Given the description of an element on the screen output the (x, y) to click on. 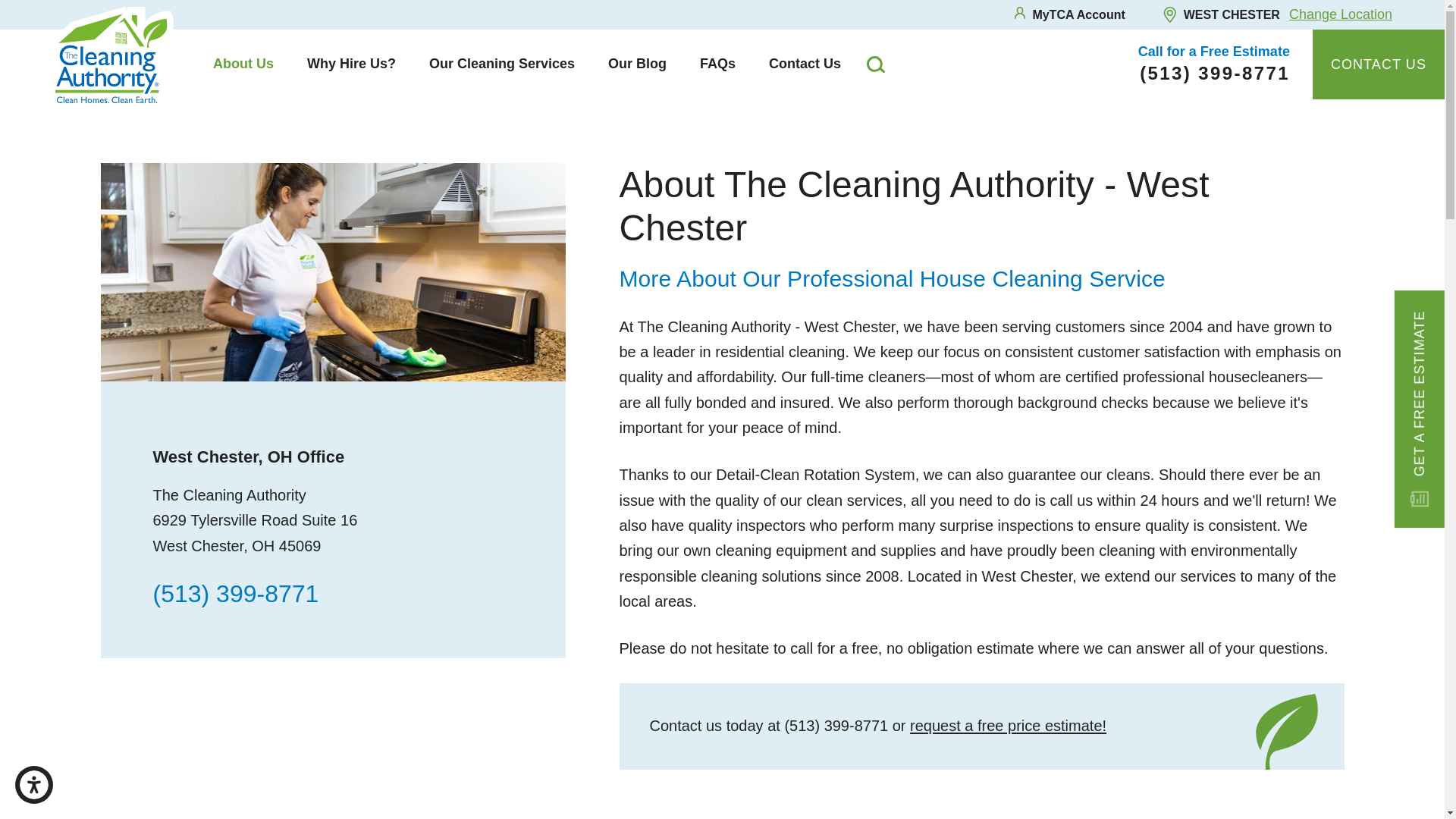
Why Hire Us? (350, 64)
About Us (242, 64)
Contact Us (804, 64)
The Cleaning Authority (112, 54)
MyTCA Account (1068, 14)
Our Blog (636, 64)
Change Location (1339, 14)
Open the accessibility options menu (33, 784)
FAQs (717, 64)
Our Cleaning Services (501, 64)
